Given the description of an element on the screen output the (x, y) to click on. 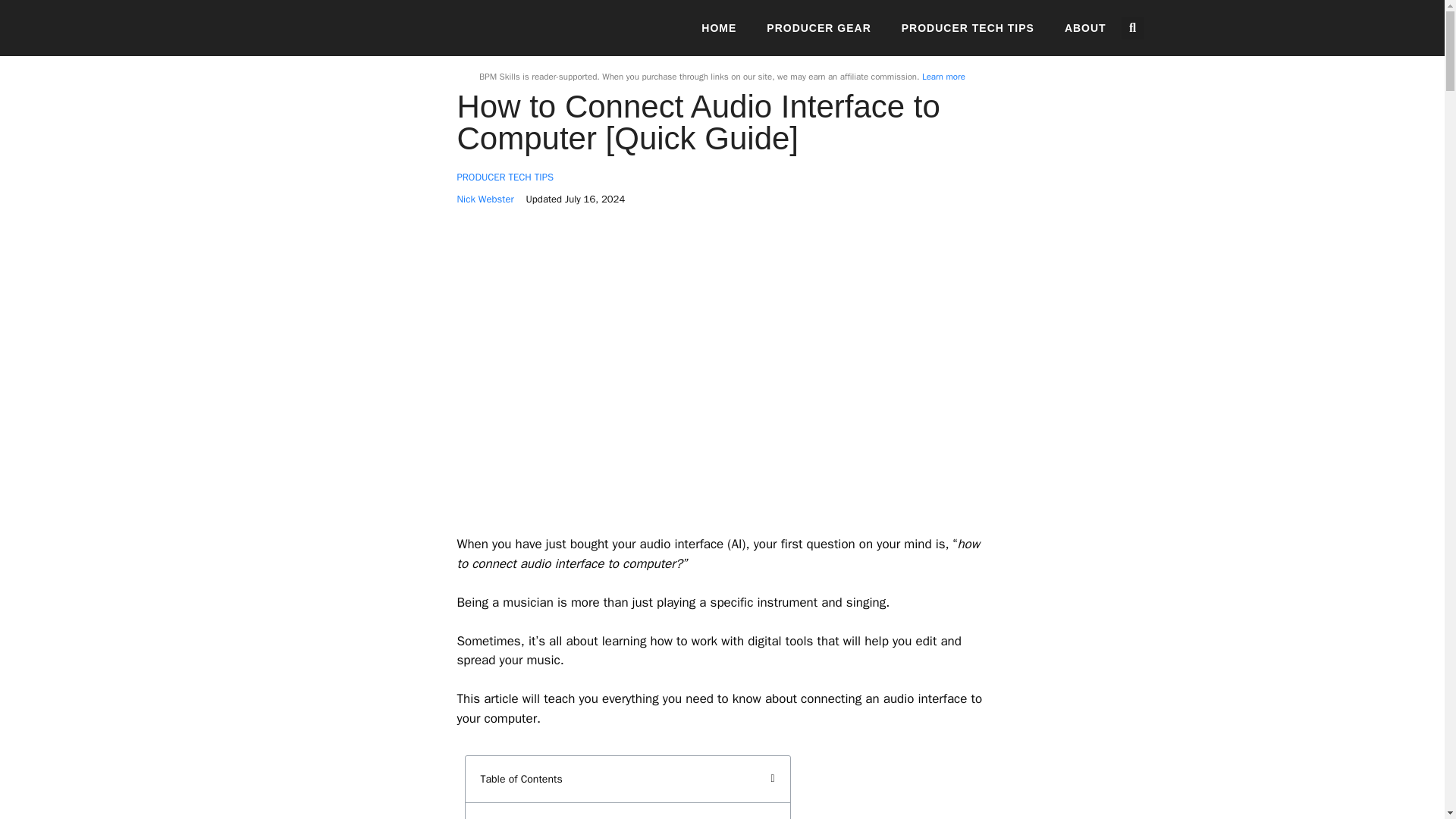
ABOUT (1085, 28)
PRODUCER GEAR (818, 28)
Learn more (943, 76)
PRODUCER TECH TIPS (967, 28)
HOME (718, 28)
